Given the description of an element on the screen output the (x, y) to click on. 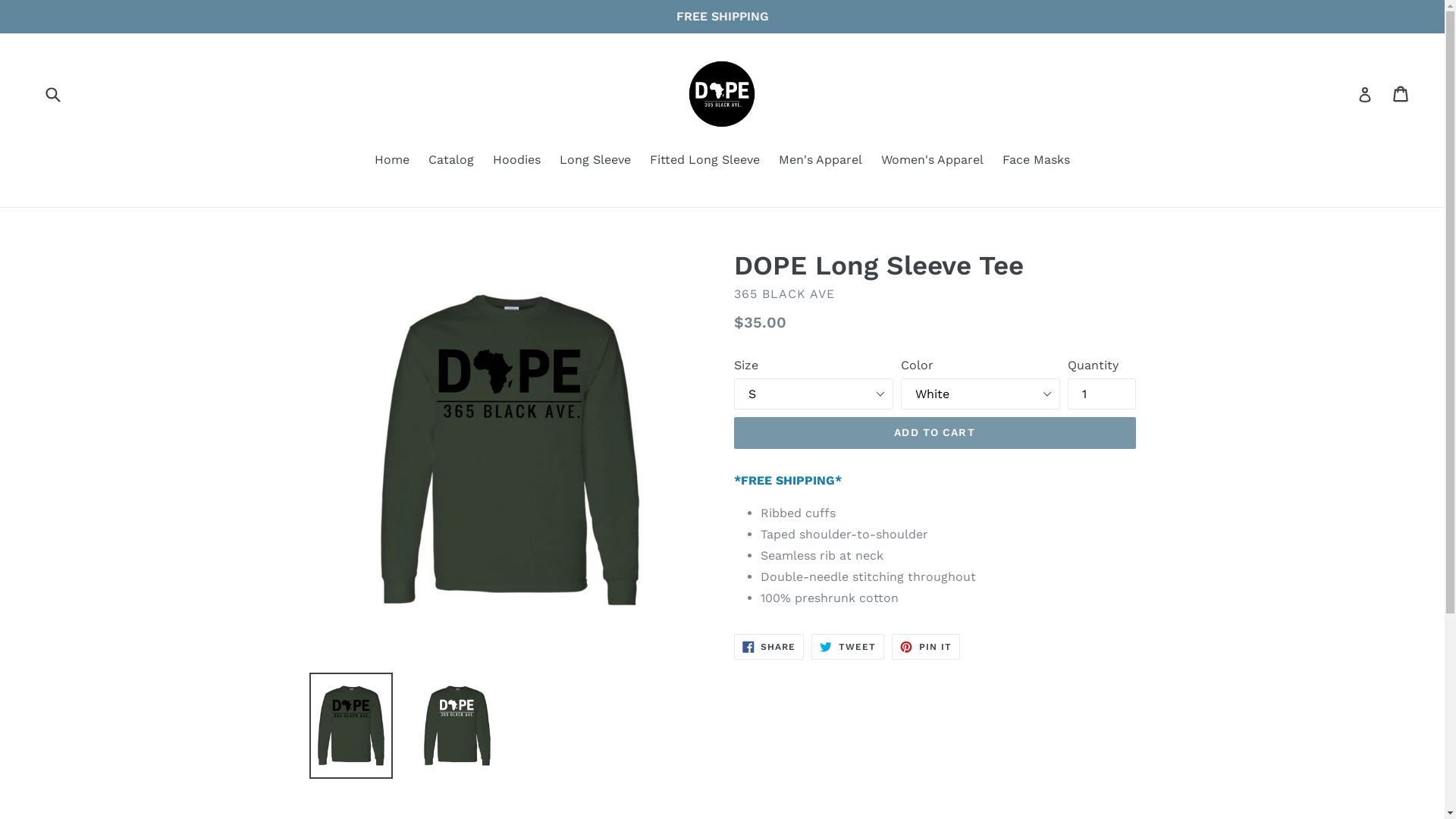
Submit Element type: text (51, 93)
TWEET
TWEET ON TWITTER Element type: text (847, 646)
Log in Element type: text (1364, 93)
Women's Apparel Element type: text (932, 160)
Catalog Element type: text (450, 160)
Long Sleeve Element type: text (595, 160)
Cart
Cart Element type: text (1401, 93)
Hoodies Element type: text (516, 160)
Home Element type: text (392, 160)
SHARE
SHARE ON FACEBOOK Element type: text (769, 646)
Fitted Long Sleeve Element type: text (704, 160)
PIN IT
PIN ON PINTEREST Element type: text (925, 646)
ADD TO CART Element type: text (934, 432)
Face Masks Element type: text (1035, 160)
Men's Apparel Element type: text (820, 160)
